Given the description of an element on the screen output the (x, y) to click on. 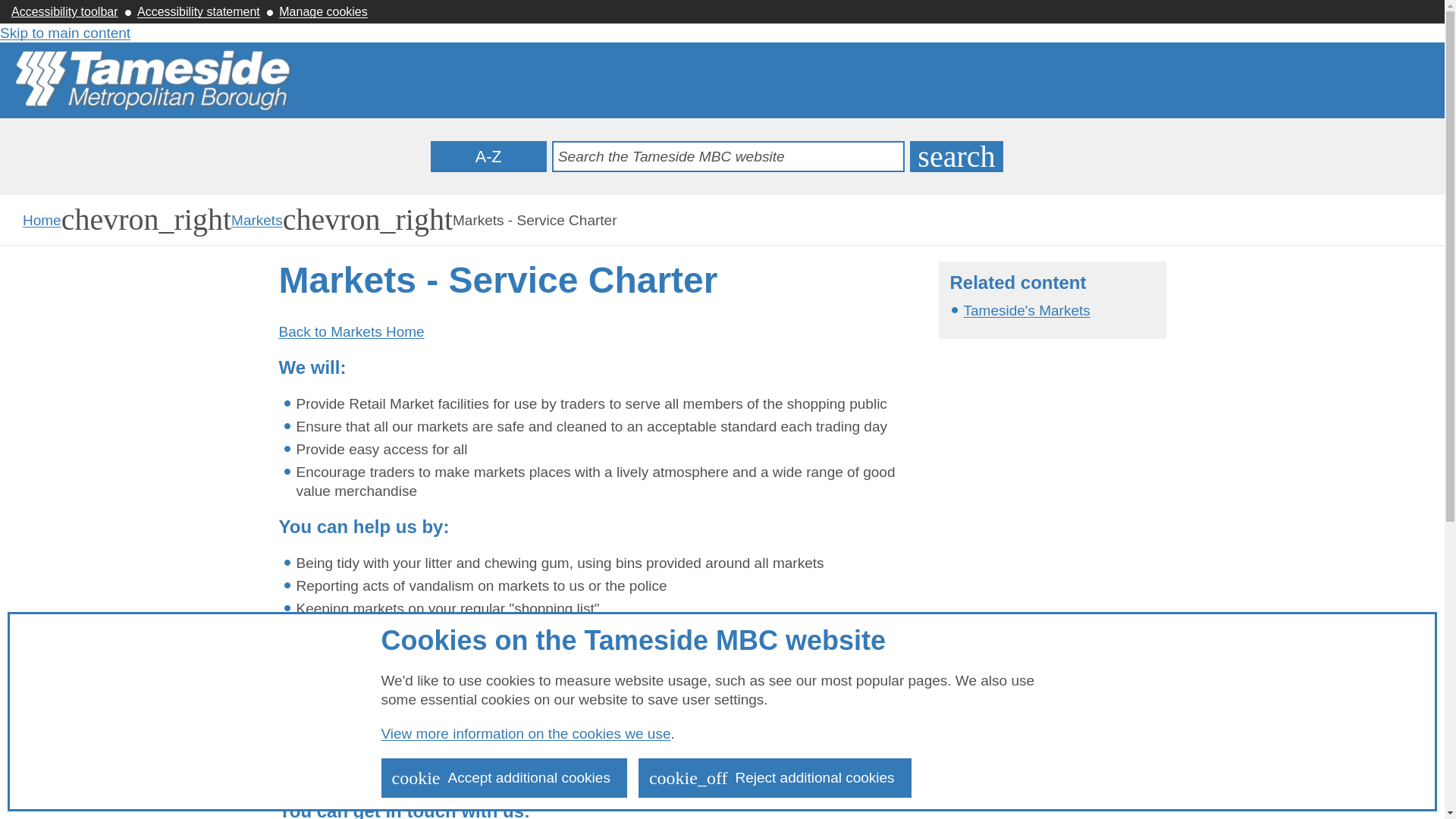
Skip to main content (65, 32)
Manage cookies (323, 11)
Shoppers Charter (388, 684)
Back to Markets Home (352, 331)
Tameside's Markets (1025, 310)
Markets (956, 155)
Home (256, 220)
Accessibility statement (42, 220)
A-Z (198, 11)
Accessibility toolbar (488, 155)
